Given the description of an element on the screen output the (x, y) to click on. 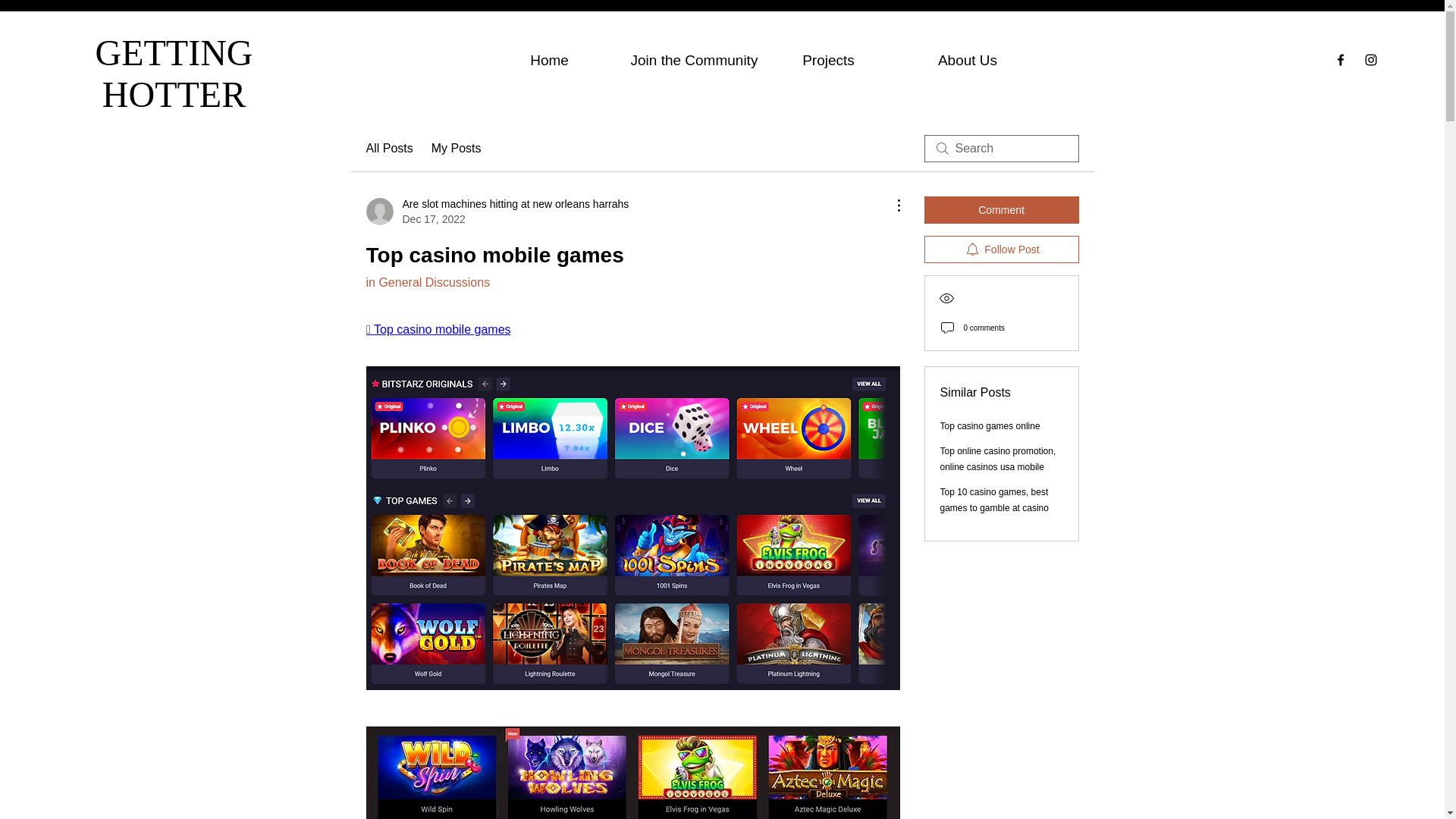
Follow Post (1000, 248)
My Posts (455, 148)
Join the Community (688, 58)
GETTING HOTTER (174, 73)
About Us (967, 58)
Projects (828, 58)
All Posts (388, 148)
Home (548, 58)
Comment (1000, 209)
Top 10 casino games, best games to gamble at casino (994, 499)
Top online casino promotion, online casinos usa mobile (998, 458)
in General Discussions (427, 282)
Top casino games online (990, 425)
